Given the description of an element on the screen output the (x, y) to click on. 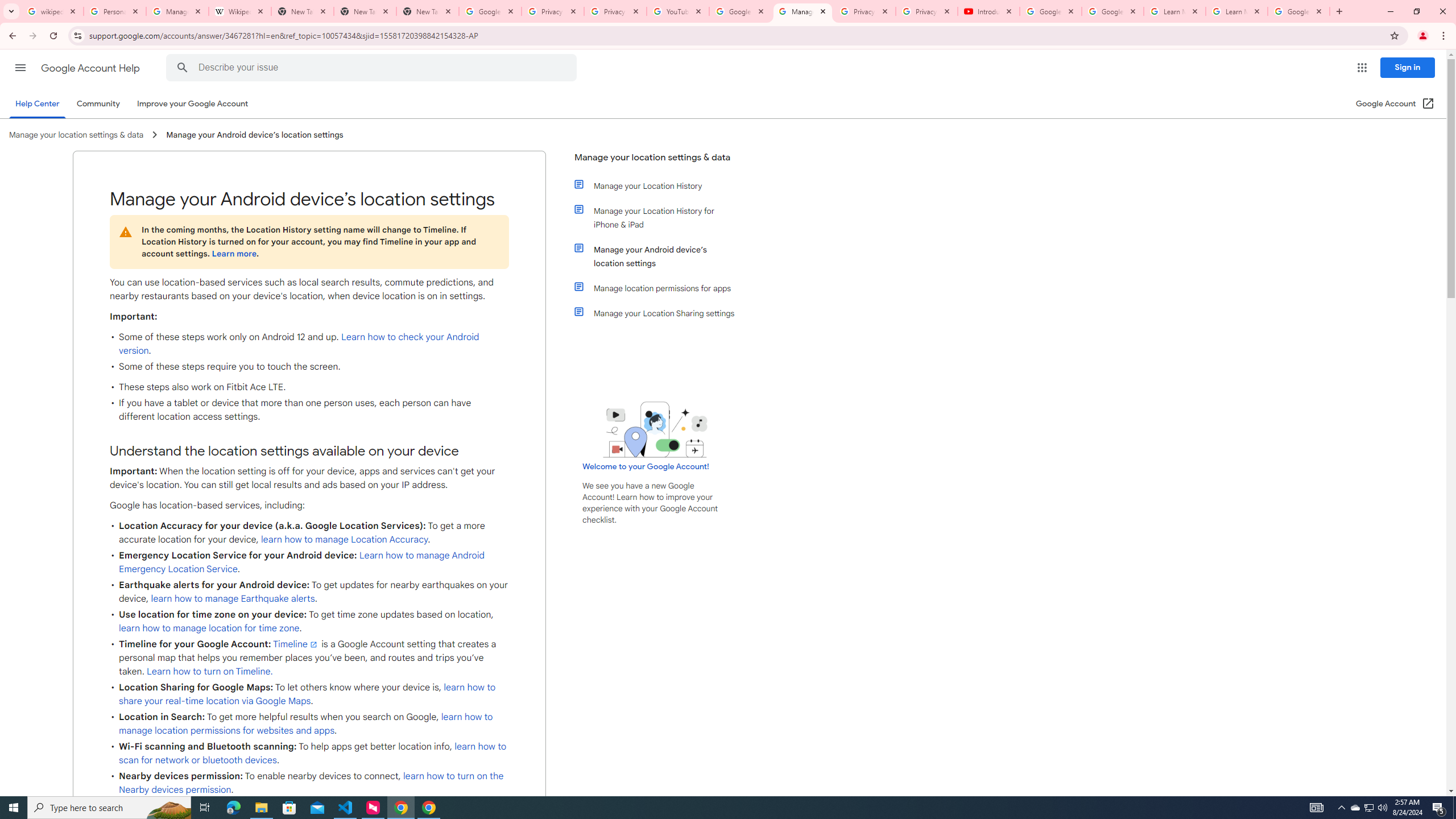
Learn how to check your Android version (299, 343)
Manage your Location History for iPhone & iPad (661, 217)
Google Drive: Sign-in (490, 11)
Describe your issue (373, 67)
Learn how to manage Android Emergency Location Service (301, 562)
Manage your Location Sharing settings (661, 312)
